Given the description of an element on the screen output the (x, y) to click on. 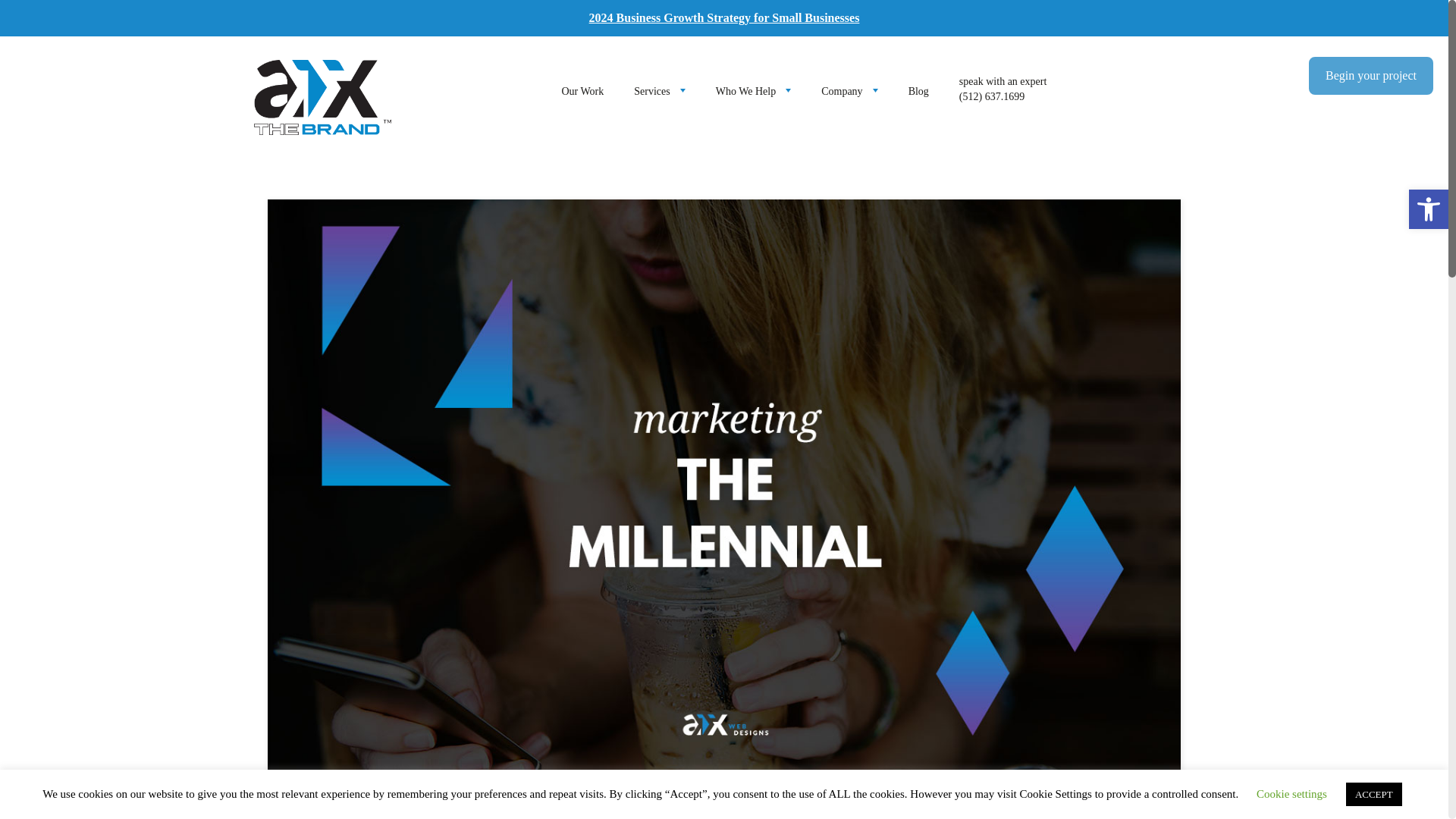
Our Work (582, 91)
Facebook (381, 807)
Who We Help (753, 91)
Services (658, 91)
Pinterest (1066, 807)
Company (849, 91)
Linkedin (837, 807)
Accessibility Tools (1428, 209)
2024 Business Growth Strategy for Small Businesses (724, 17)
Twitter (609, 807)
